Given the description of an element on the screen output the (x, y) to click on. 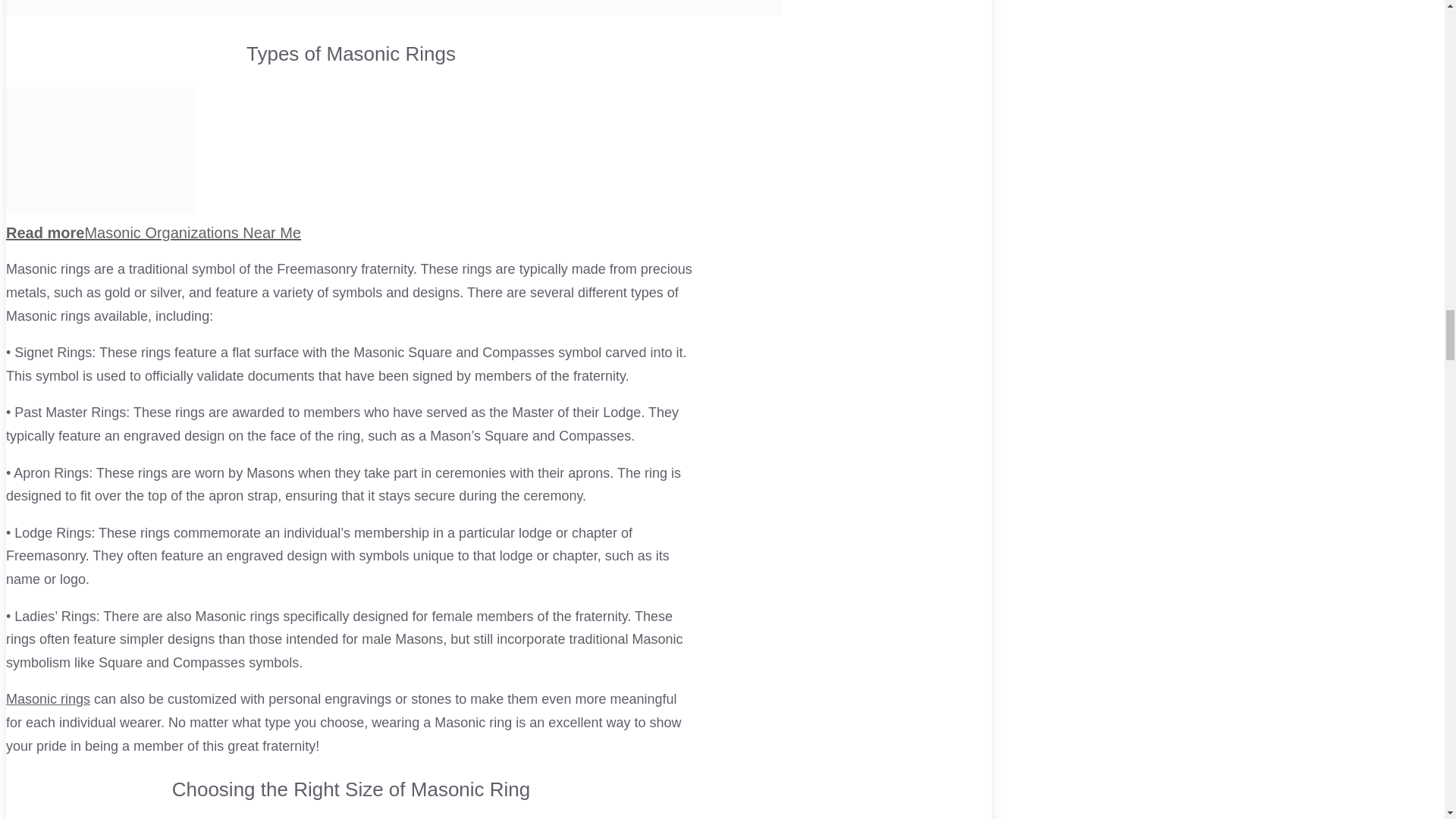
14 Degree Masonic Ring Meaning (47, 698)
